Given the description of an element on the screen output the (x, y) to click on. 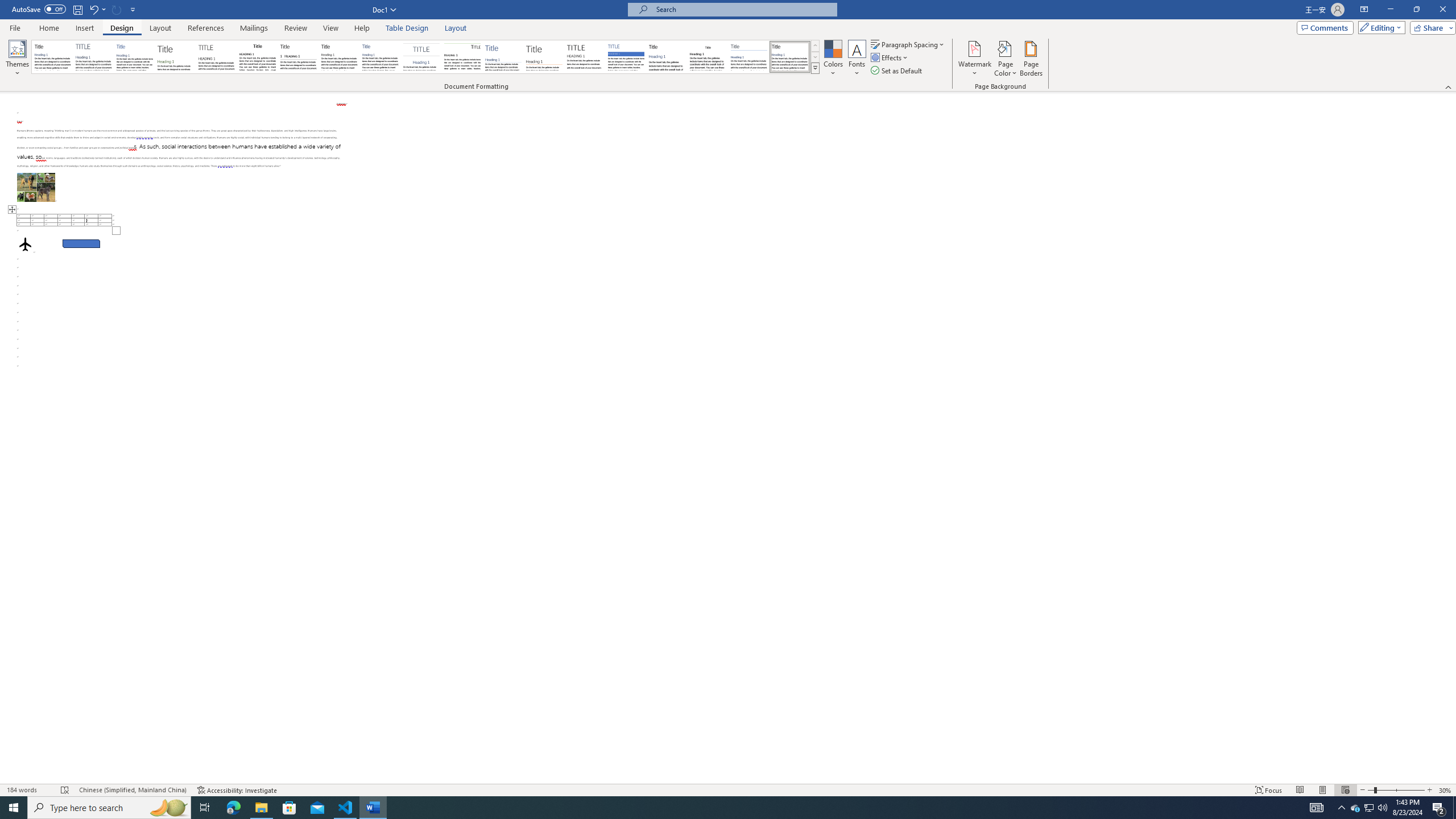
Set as Default (897, 69)
Basic (Elegant) (93, 56)
Page Color (1005, 58)
Colors (832, 58)
Effects (890, 56)
